Given the description of an element on the screen output the (x, y) to click on. 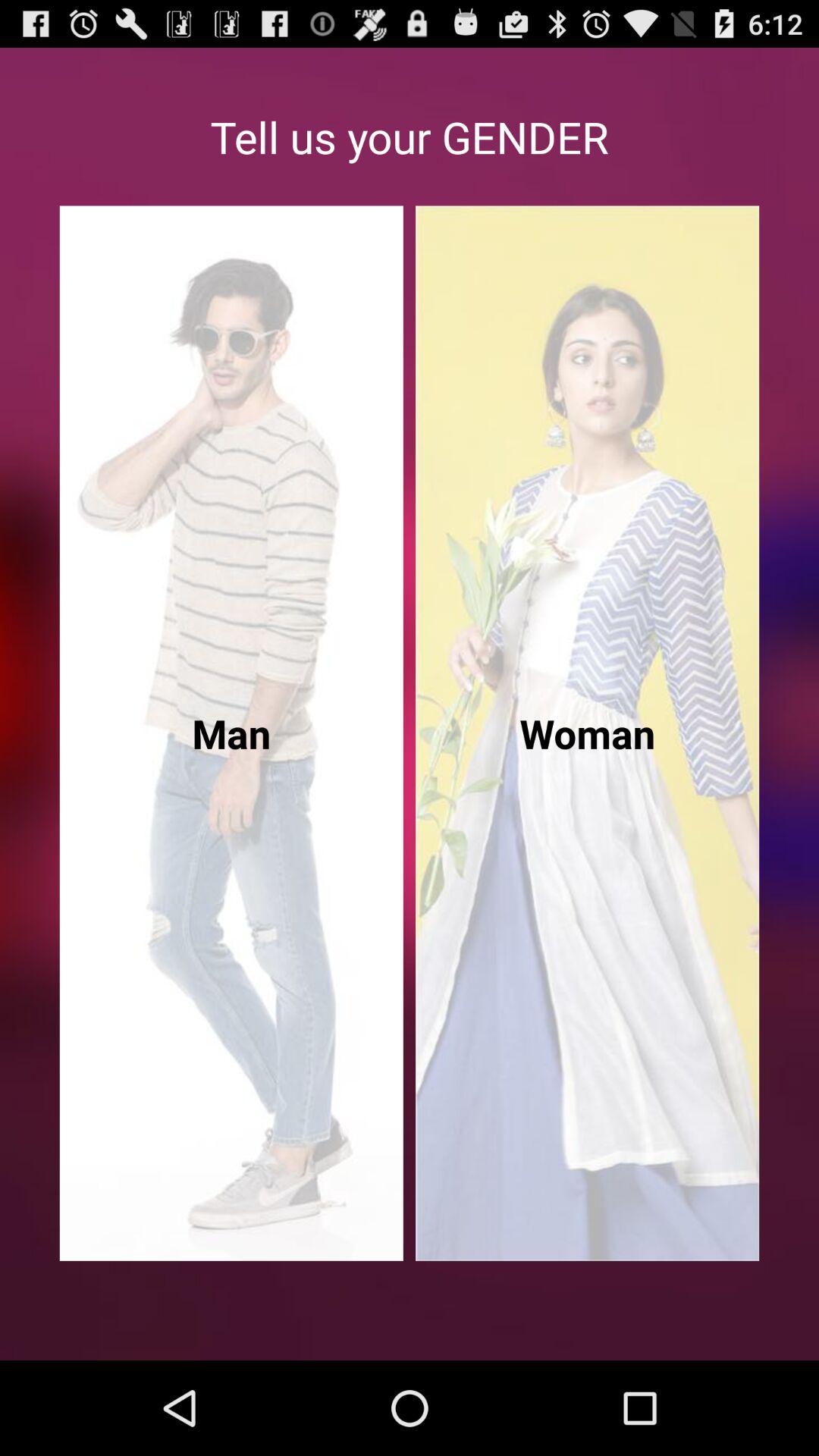
click on the left side image of the page (231, 733)
